Given the description of an element on the screen output the (x, y) to click on. 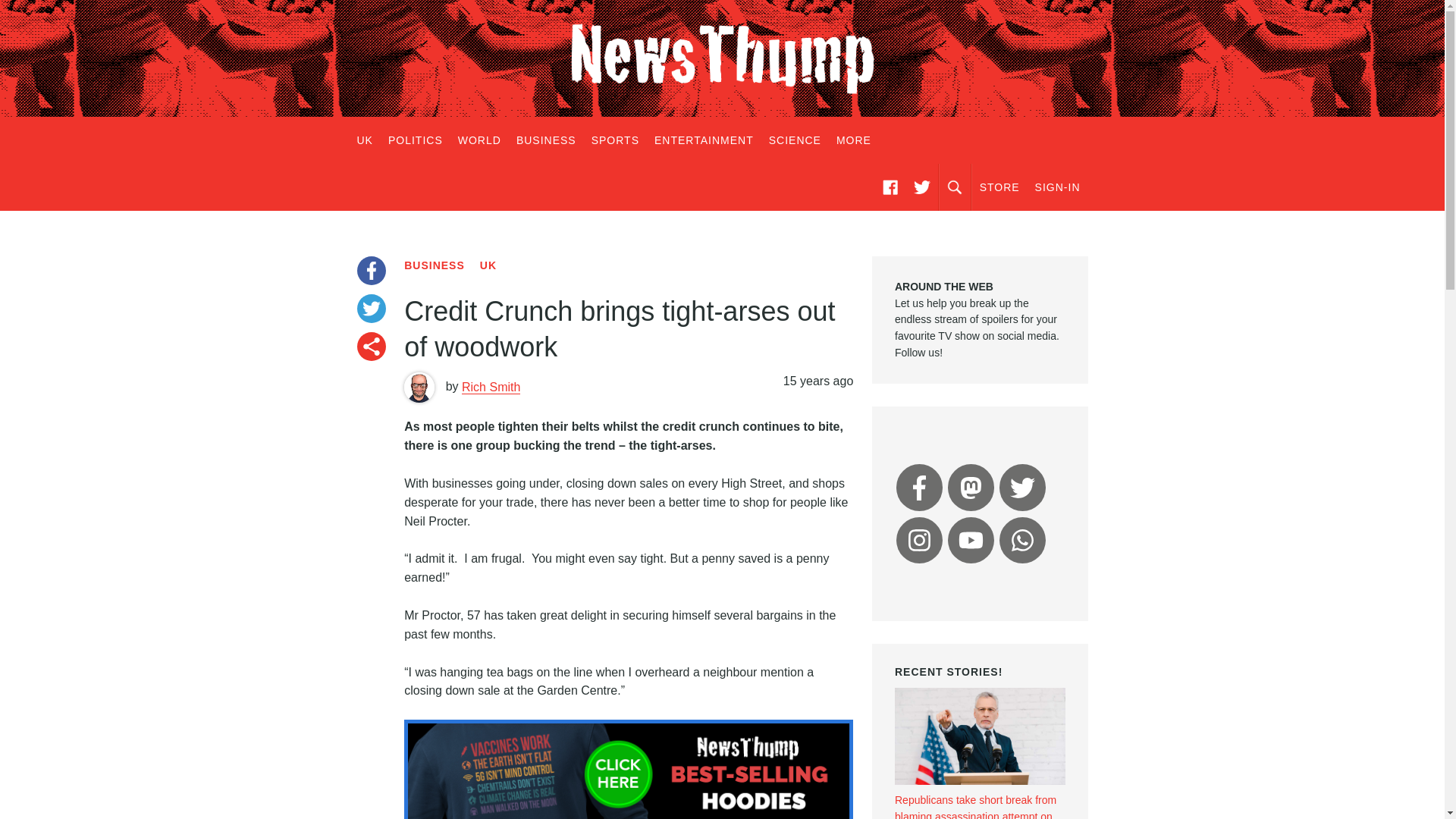
Share by email (370, 346)
Rich Smith (490, 386)
MORE (853, 140)
WORLD (478, 140)
Share on Twitter (370, 308)
SPORTS (614, 140)
POLITICS (414, 140)
NewsThump (721, 58)
BUSINESS (434, 265)
ENTERTAINMENT (703, 140)
STORE (999, 186)
SIGN-IN (1057, 186)
Posts by Rich Smith (490, 386)
UK (488, 265)
SCIENCE (794, 140)
